Given the description of an element on the screen output the (x, y) to click on. 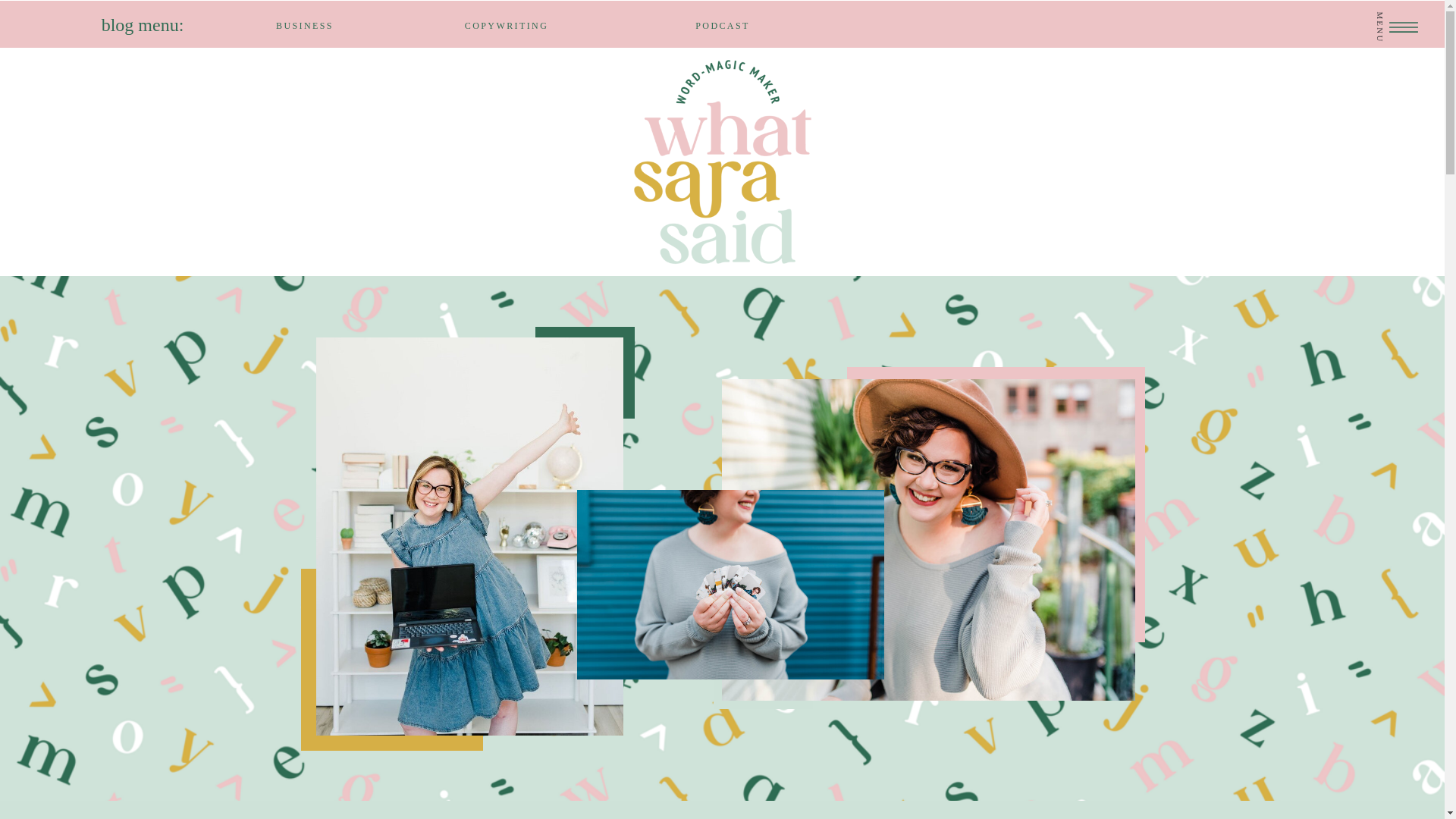
PODCAST (722, 25)
BUSINESS (304, 24)
COPYWRITING (506, 24)
MENU (1397, 9)
blog menu: (142, 24)
